Given the description of an element on the screen output the (x, y) to click on. 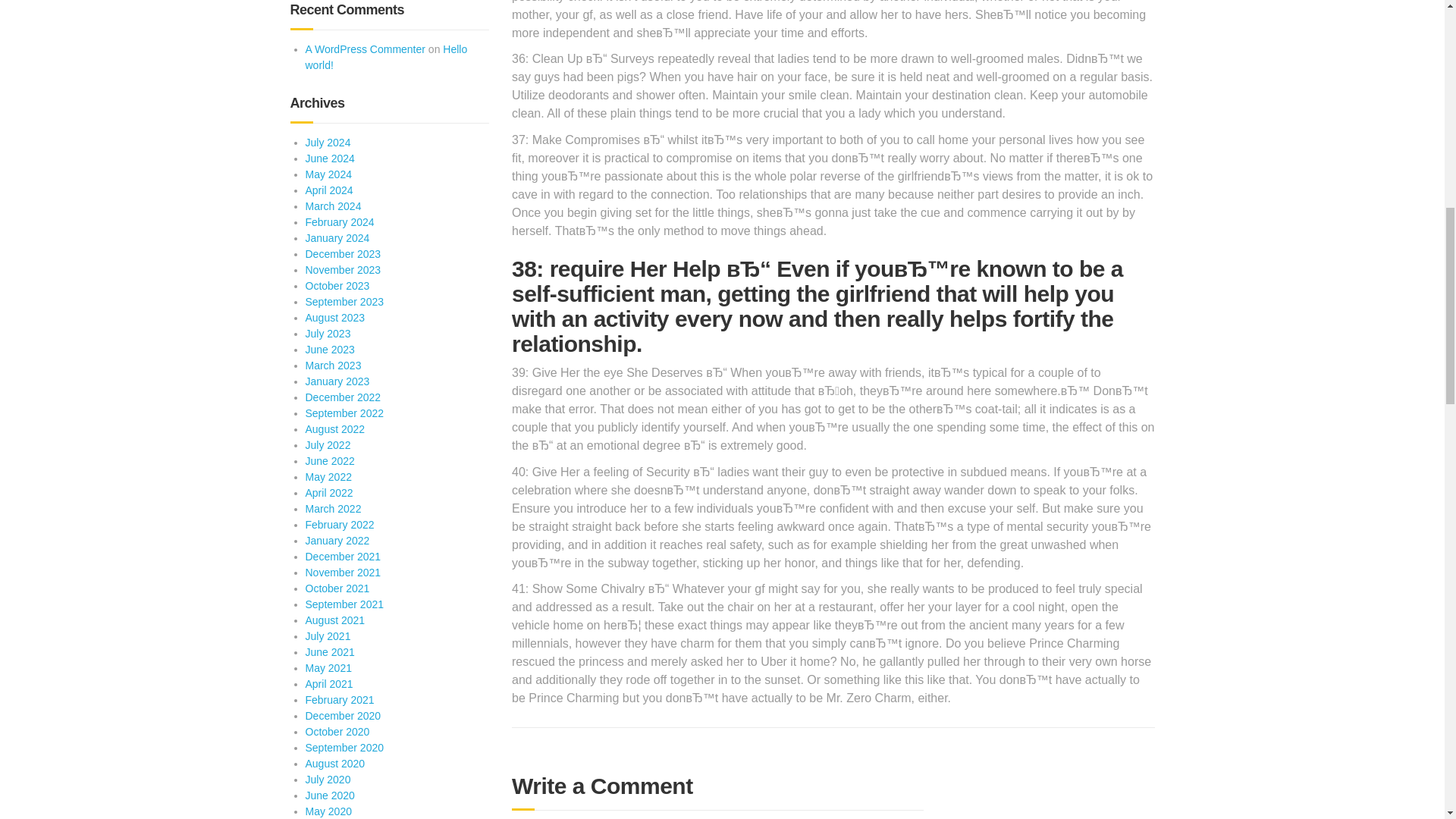
March 2024 (332, 205)
A WordPress Commenter (364, 49)
June 2024 (328, 158)
January 2024 (336, 237)
July 2024 (327, 142)
April 2024 (328, 190)
February 2024 (339, 222)
May 2024 (327, 174)
Hello world! (385, 57)
October 2023 (336, 285)
November 2023 (342, 269)
December 2023 (342, 254)
